Given the description of an element on the screen output the (x, y) to click on. 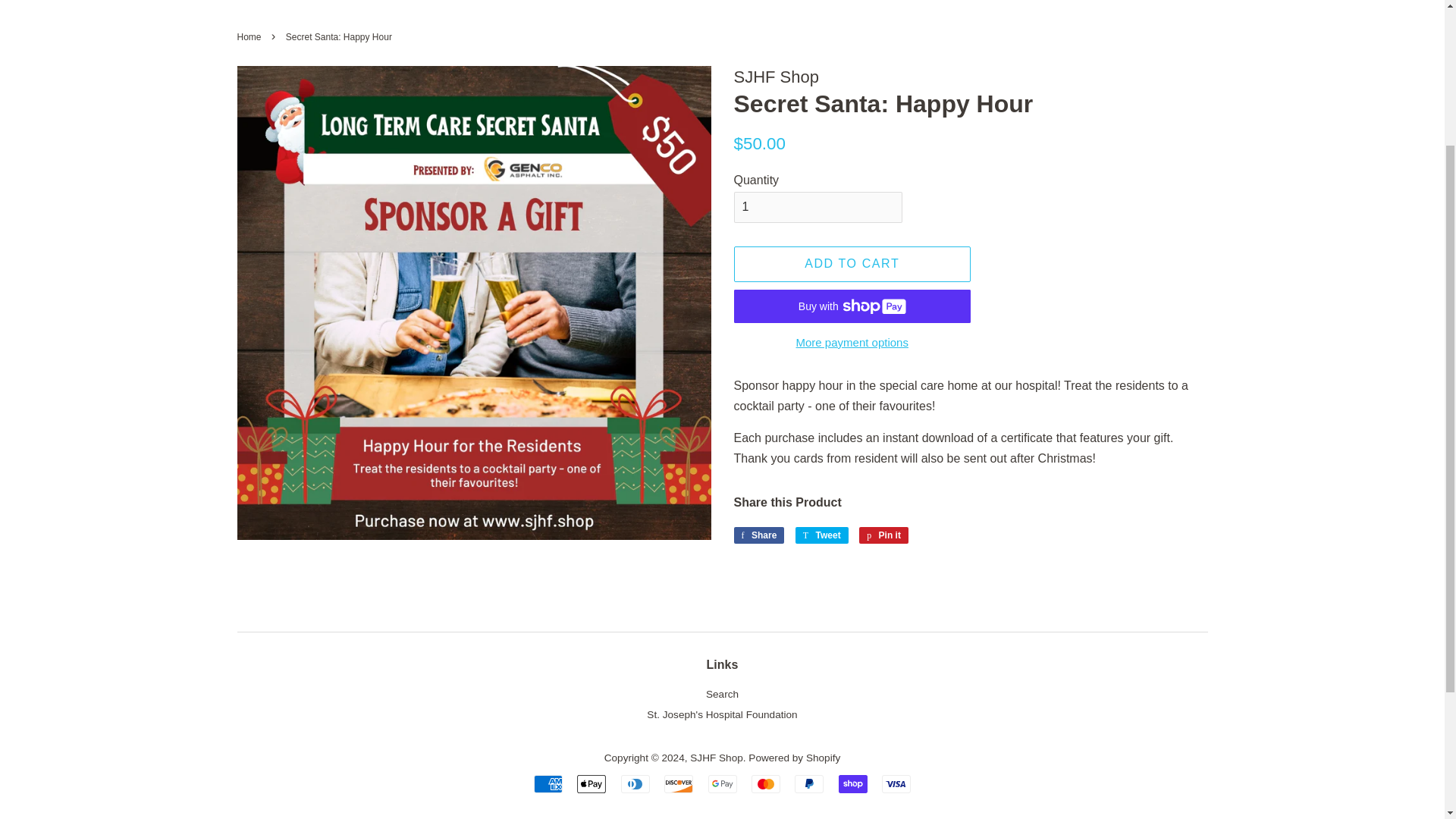
Tweet on Twitter (821, 535)
Google Pay (721, 783)
Diners Club (635, 783)
Back to the frontpage (249, 36)
1 (817, 206)
Home (883, 535)
PayPal (249, 36)
St. Joseph's Hospital Foundation (809, 783)
Share on Facebook (721, 714)
Pin on Pinterest (758, 535)
ADD TO CART (883, 535)
Shop Pay (852, 263)
Powered by Shopify (821, 535)
